Given the description of an element on the screen output the (x, y) to click on. 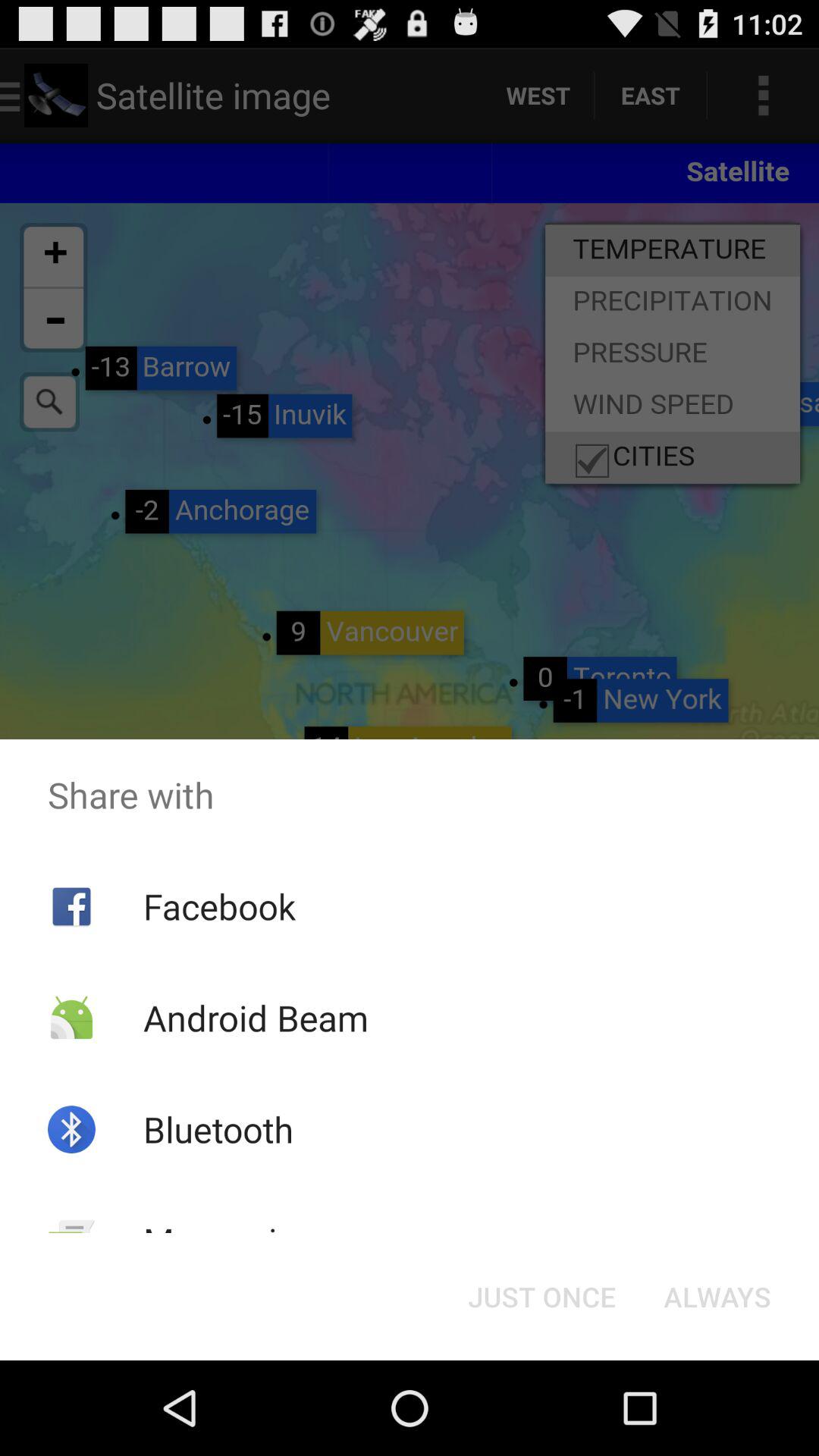
scroll until bluetooth icon (218, 1129)
